Given the description of an element on the screen output the (x, y) to click on. 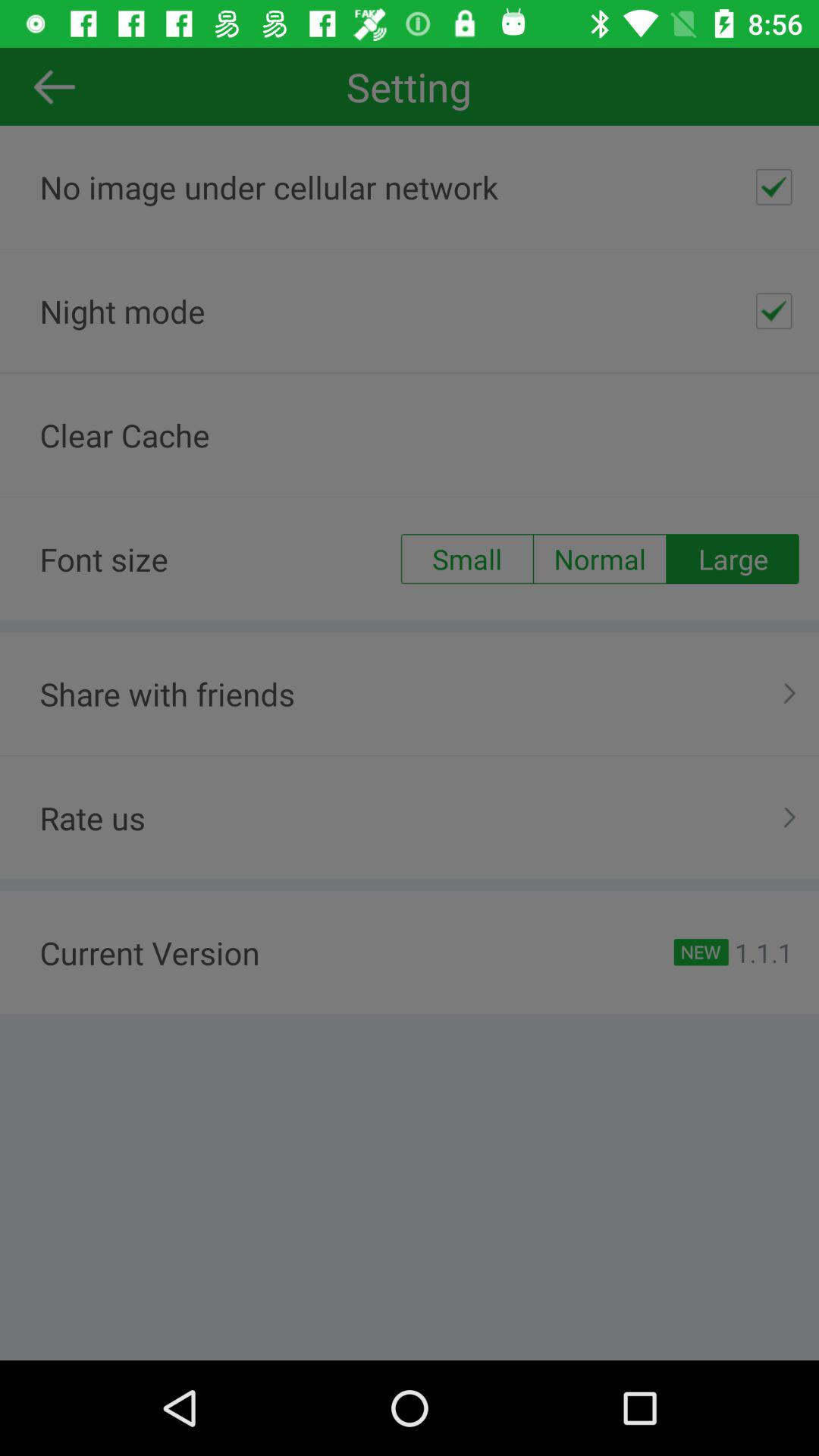
choose large (733, 559)
